Given the description of an element on the screen output the (x, y) to click on. 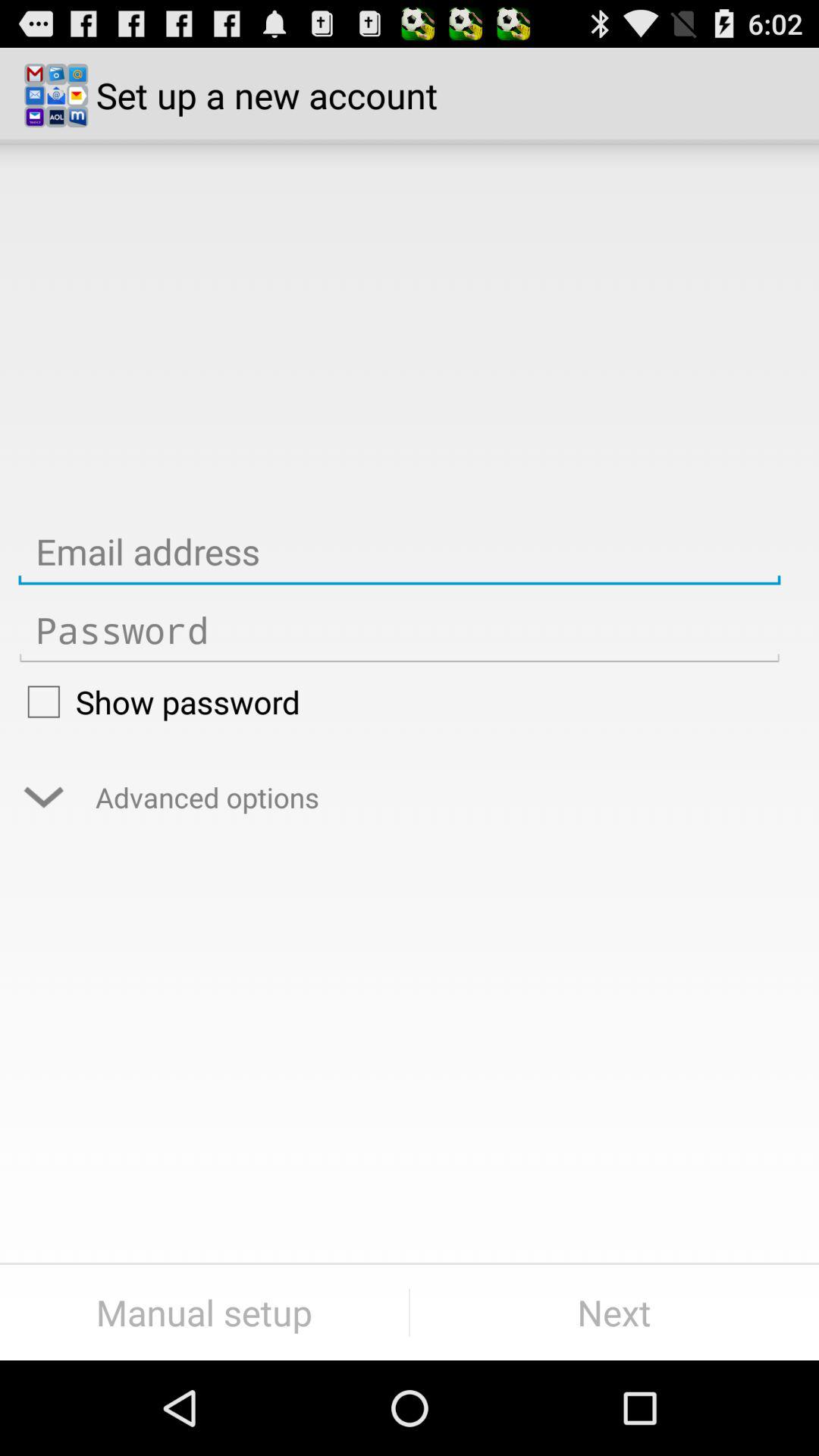
scroll until manual setup button (204, 1312)
